Given the description of an element on the screen output the (x, y) to click on. 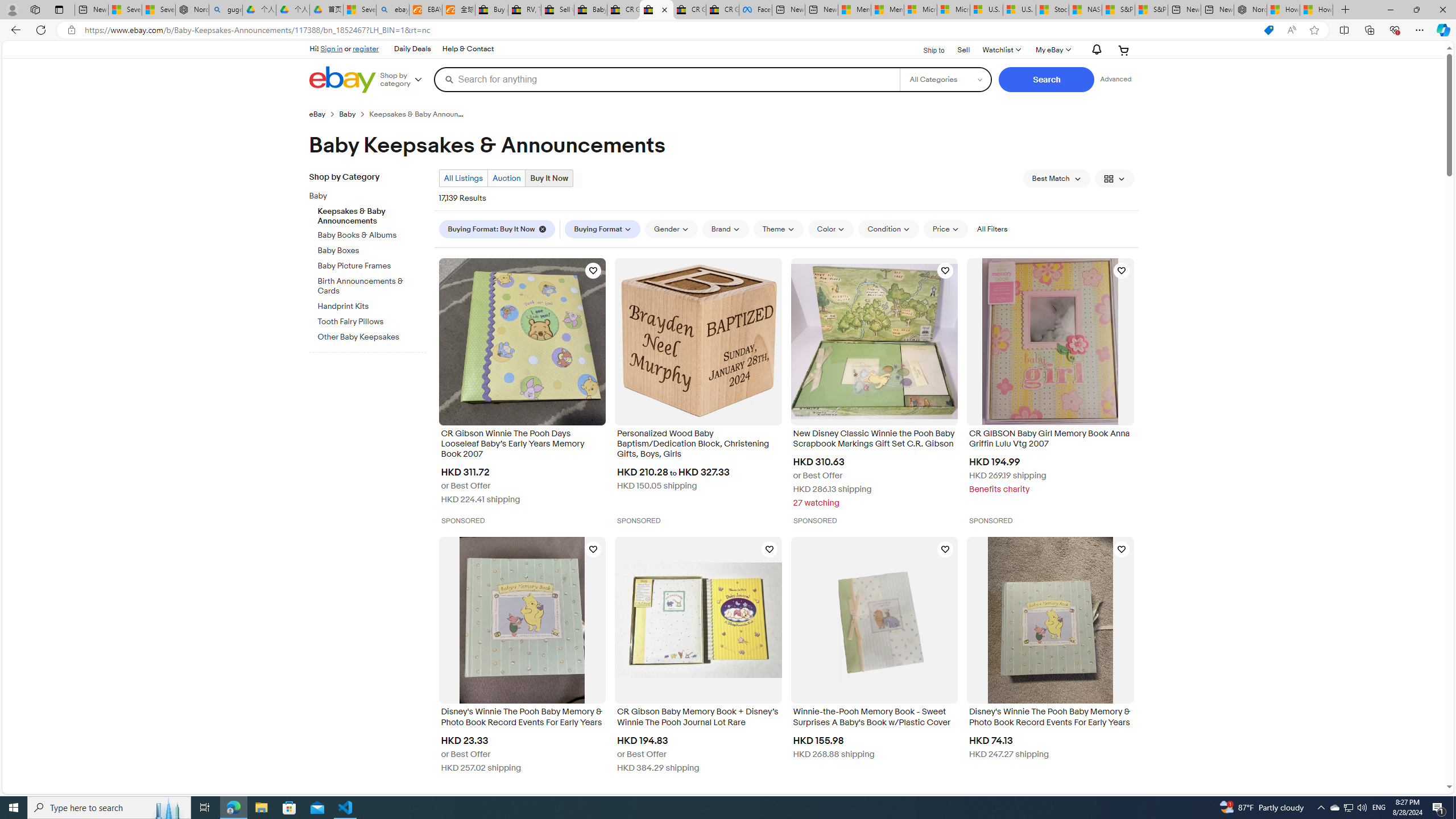
All Listings (463, 178)
Other Baby Keepsakes (371, 335)
CR GIBSON Baby Girl Memory Book Anna Griffin Lulu Vtg 2007 (1050, 440)
Handprint Kits (371, 304)
Theme (777, 229)
Tooth Fairy Pillows (371, 319)
My eBay (1052, 49)
